Given the description of an element on the screen output the (x, y) to click on. 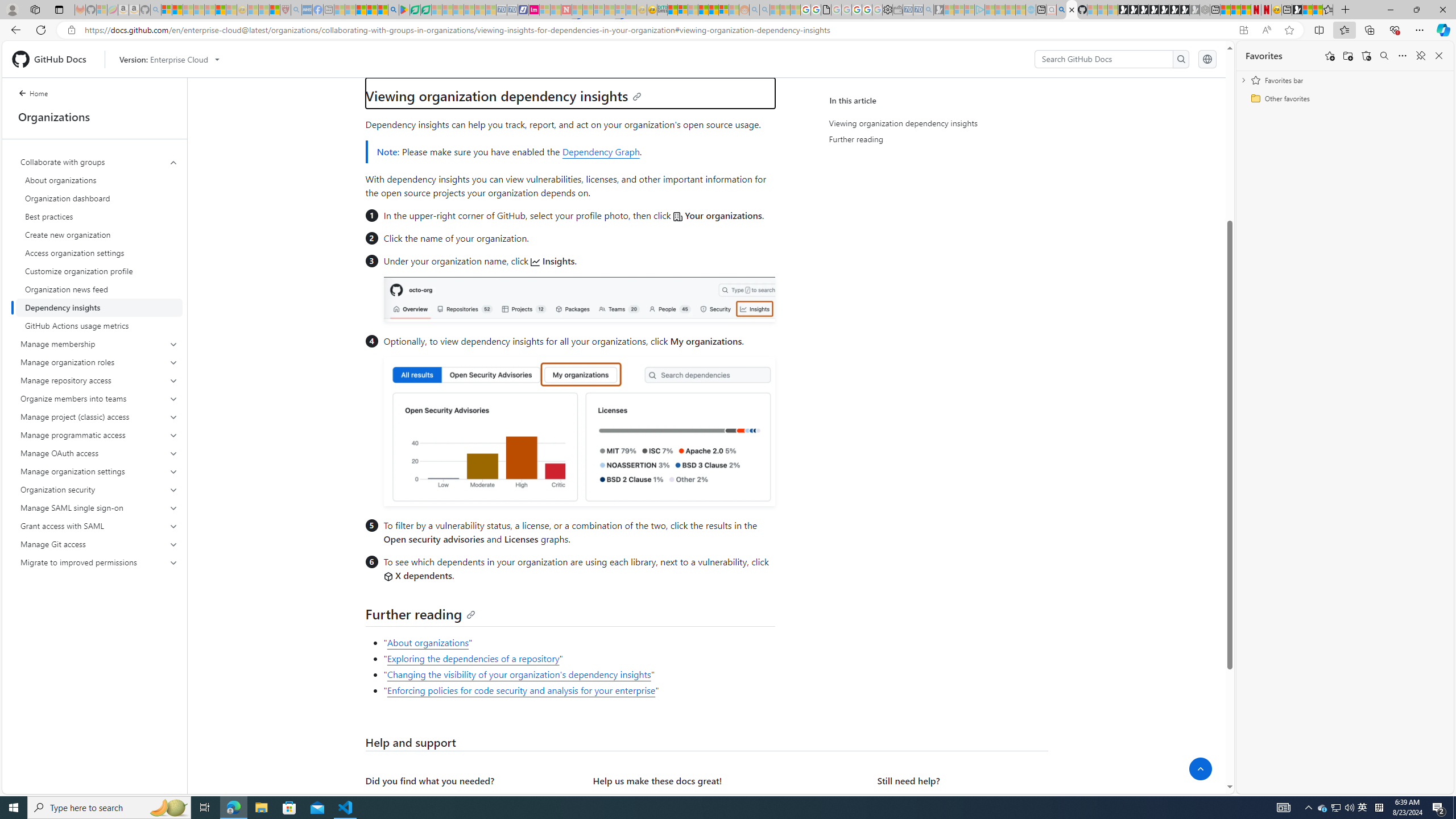
Close favorites (1439, 55)
Further reading (420, 613)
Add this page to favorites (1330, 55)
Organization security (99, 489)
Manage OAuth access (99, 452)
Manage Git access (99, 543)
Manage repository access (99, 380)
Best practices (99, 216)
Collaborate with groups (99, 162)
